Given the description of an element on the screen output the (x, y) to click on. 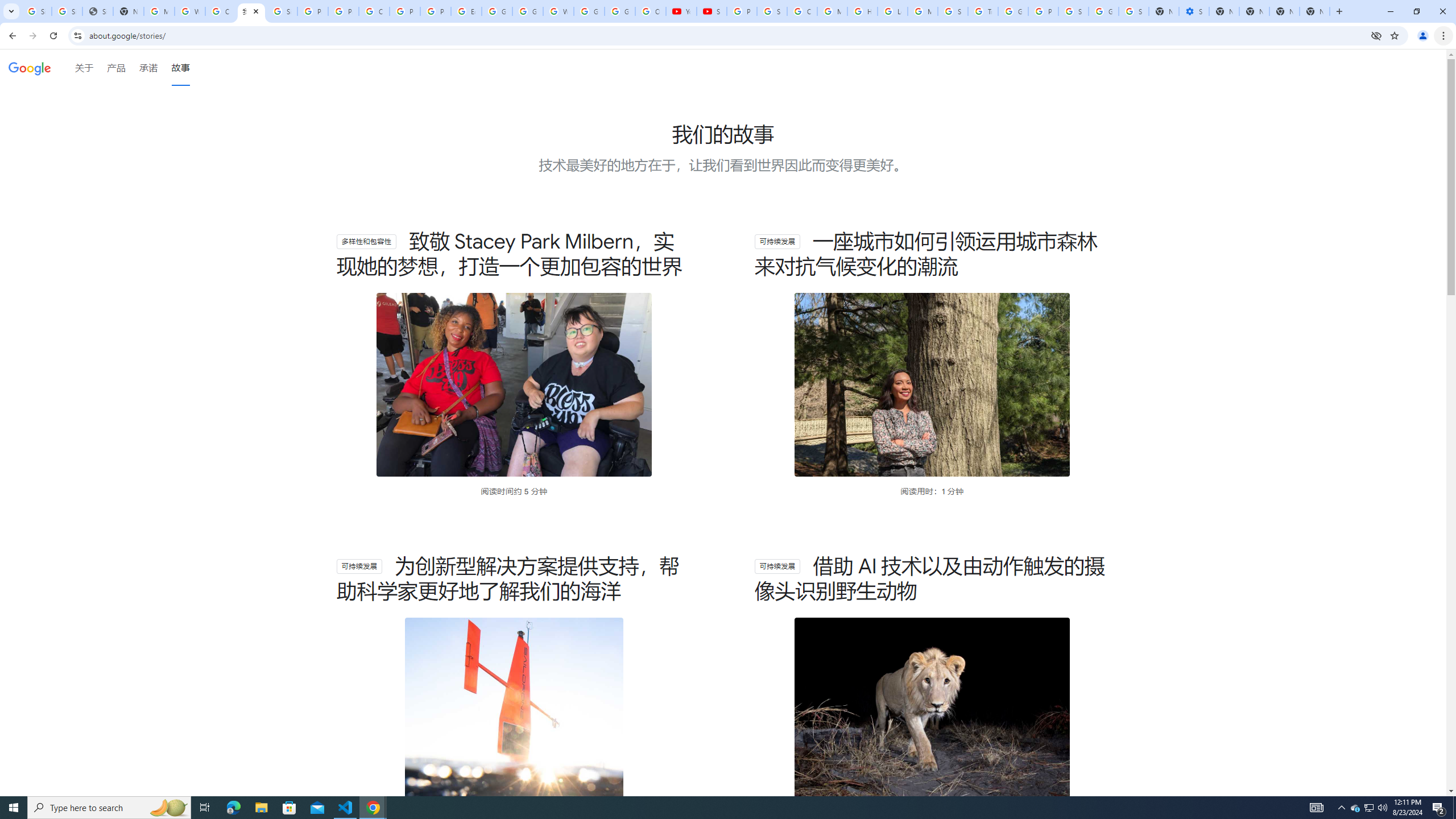
Subscriptions - YouTube (711, 11)
Sign In - USA TODAY (97, 11)
New Tab (1314, 11)
